Given the description of an element on the screen output the (x, y) to click on. 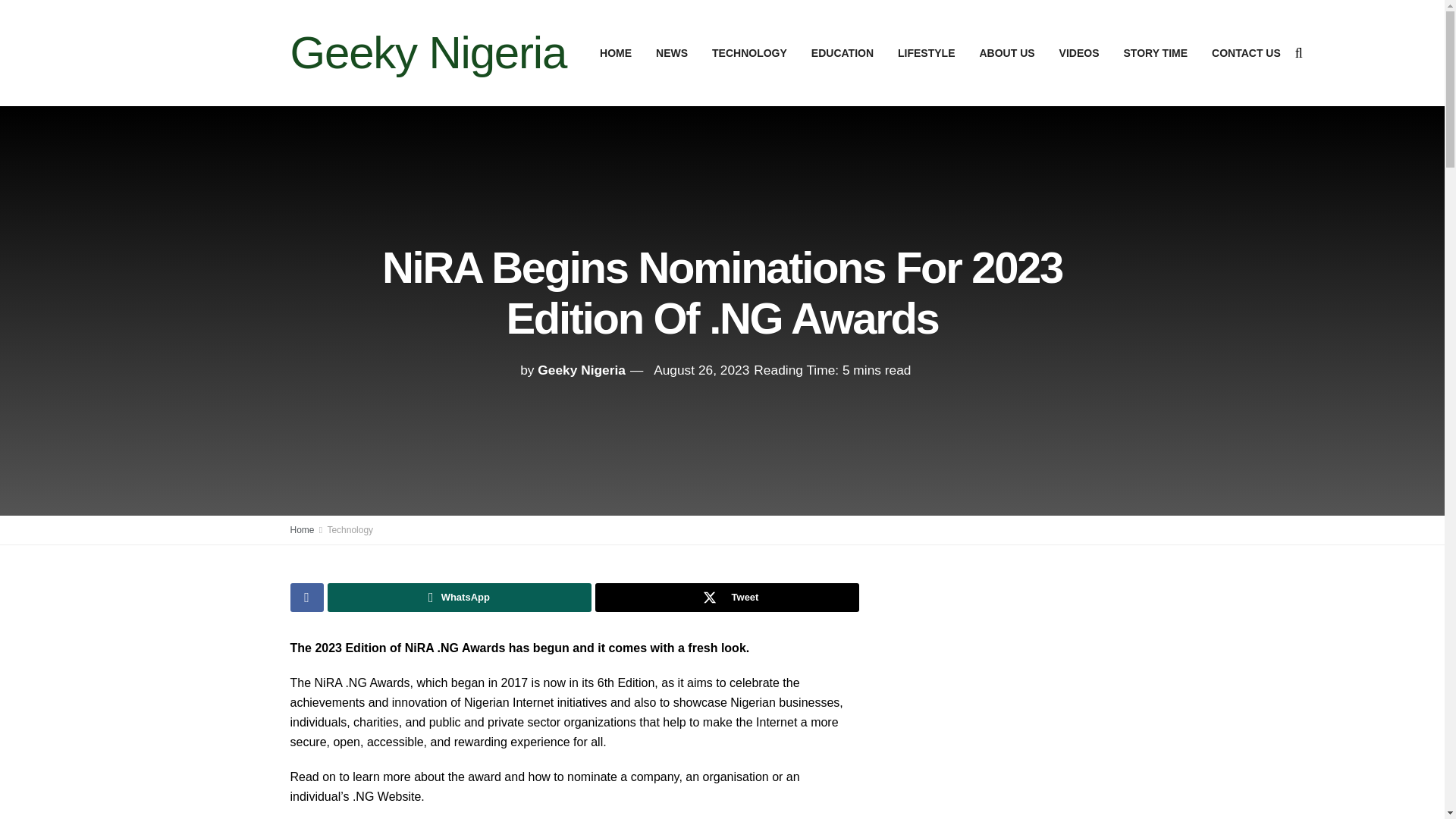
Technology (349, 529)
Geeky Nigeria (427, 53)
ABOUT US (1006, 53)
Home (301, 529)
WhatsApp (459, 597)
TECHNOLOGY (749, 53)
Geeky Nigeria (581, 369)
EDUCATION (842, 53)
Tweet (726, 597)
CONTACT US (1245, 53)
